Given the description of an element on the screen output the (x, y) to click on. 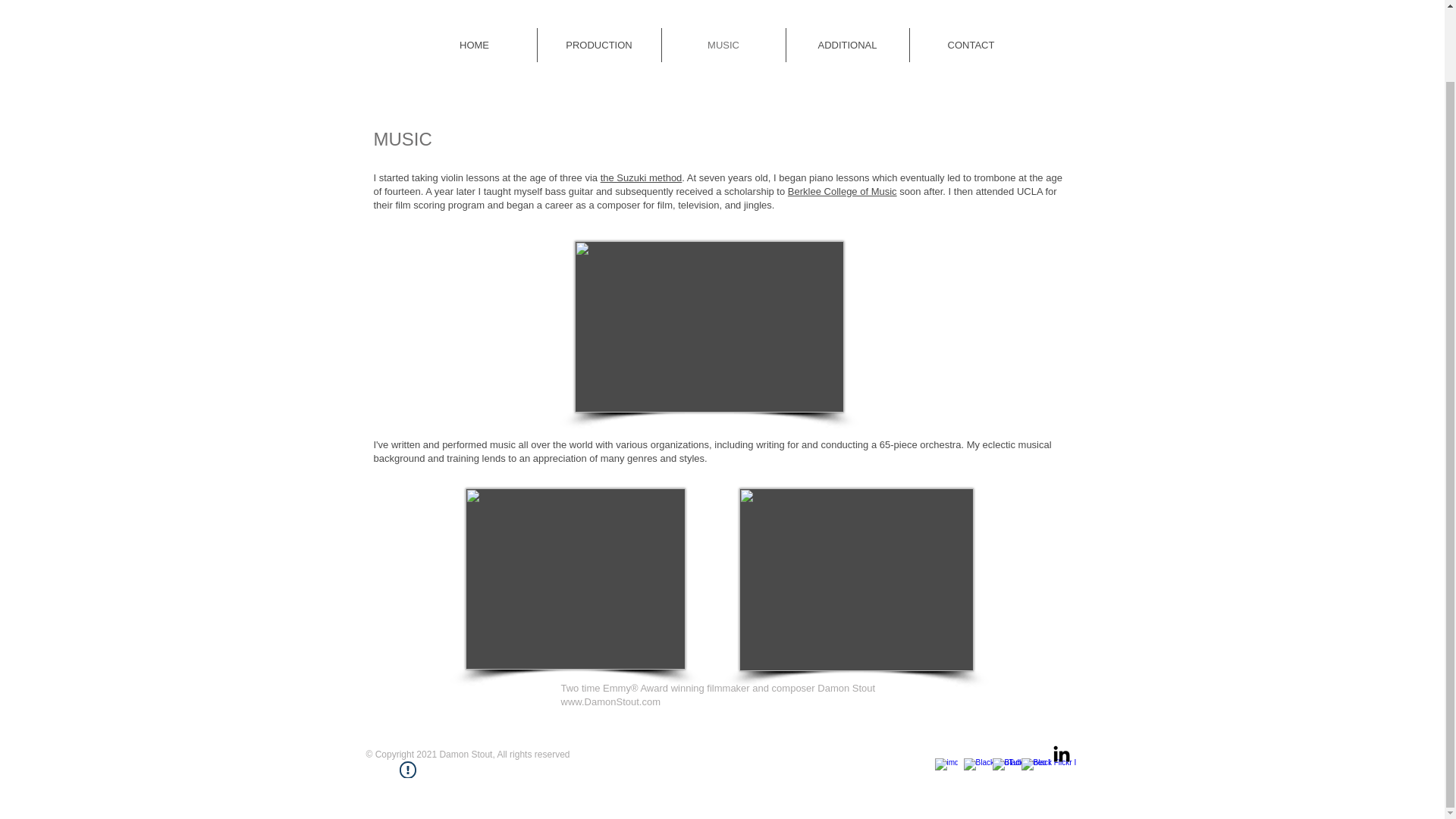
www.DamonStout.com (610, 701)
CONTACT (971, 44)
HOME (474, 44)
Berklee College of Music (841, 191)
ADDITIONAL (847, 44)
MUSIC (722, 44)
the Suzuki method (640, 177)
PRODUCTION (599, 44)
